Given the description of an element on the screen output the (x, y) to click on. 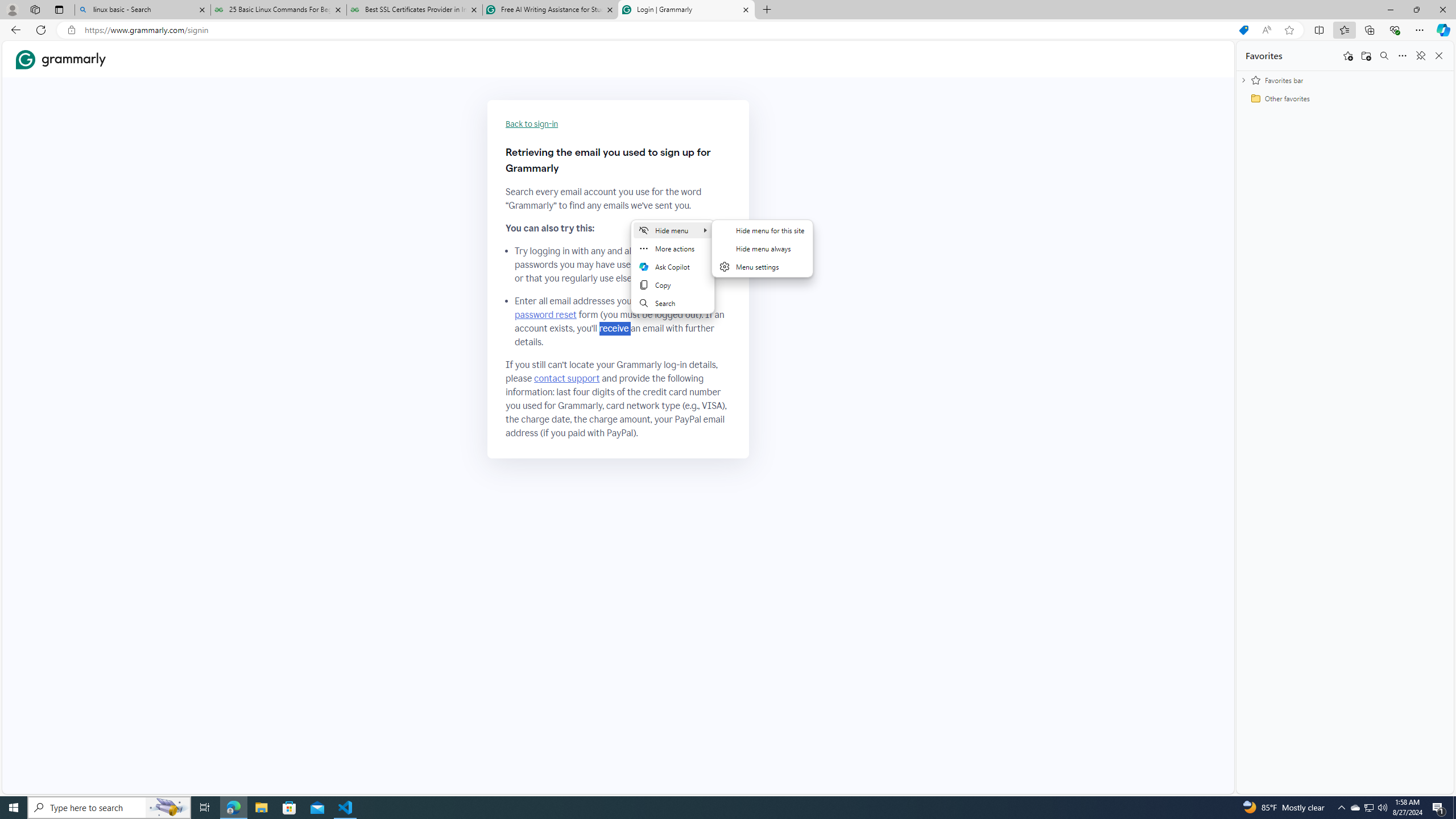
Mini menu on text selection (672, 273)
Hide menu (672, 230)
Close favorites (1439, 55)
Grammarly Home (61, 58)
Menu settings (761, 266)
Hide menu always (761, 248)
Add this page to favorites (1347, 55)
